Given the description of an element on the screen output the (x, y) to click on. 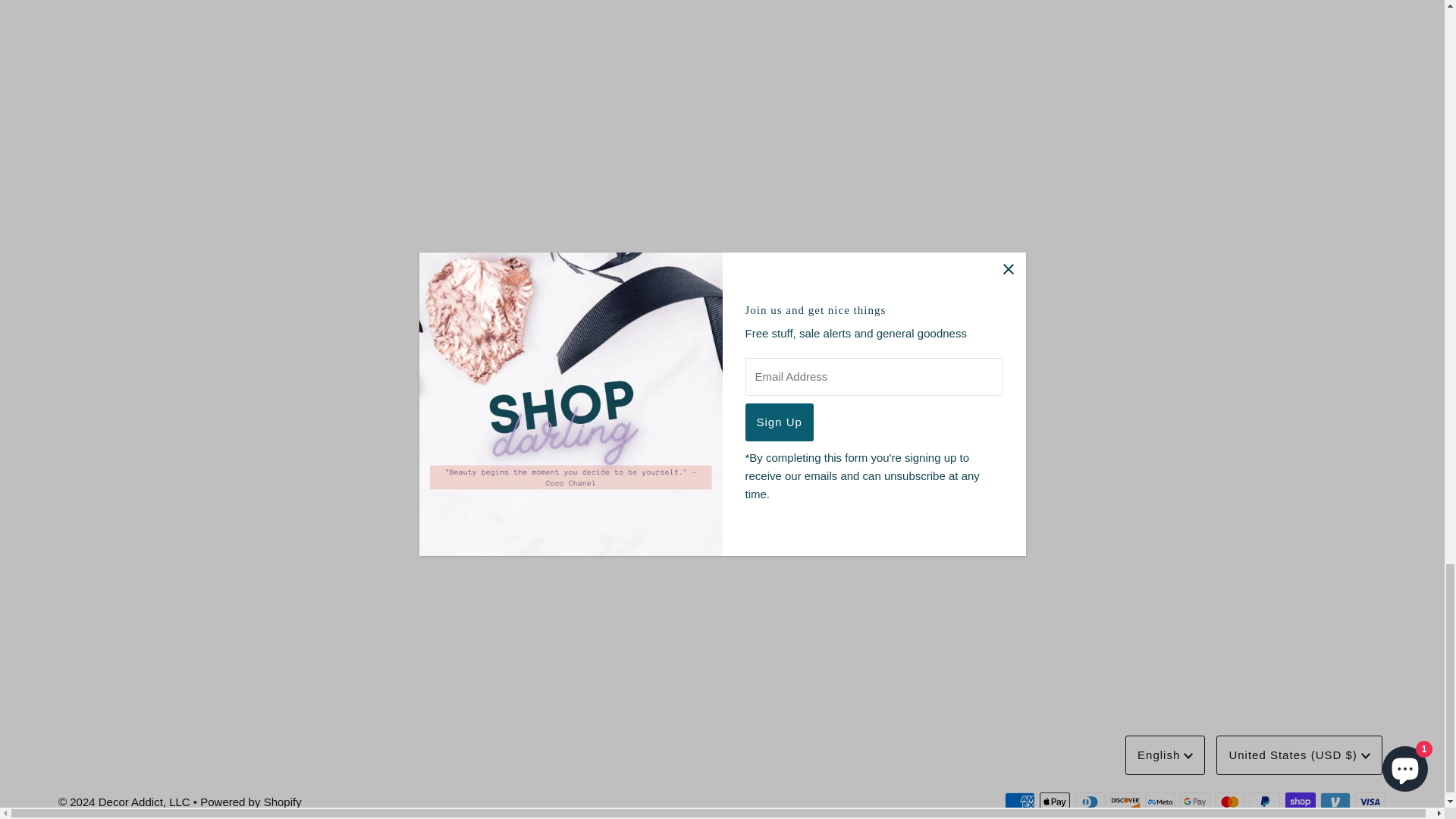
Pinterest (748, 503)
Facebook (694, 503)
Instagram (721, 503)
